Given the description of an element on the screen output the (x, y) to click on. 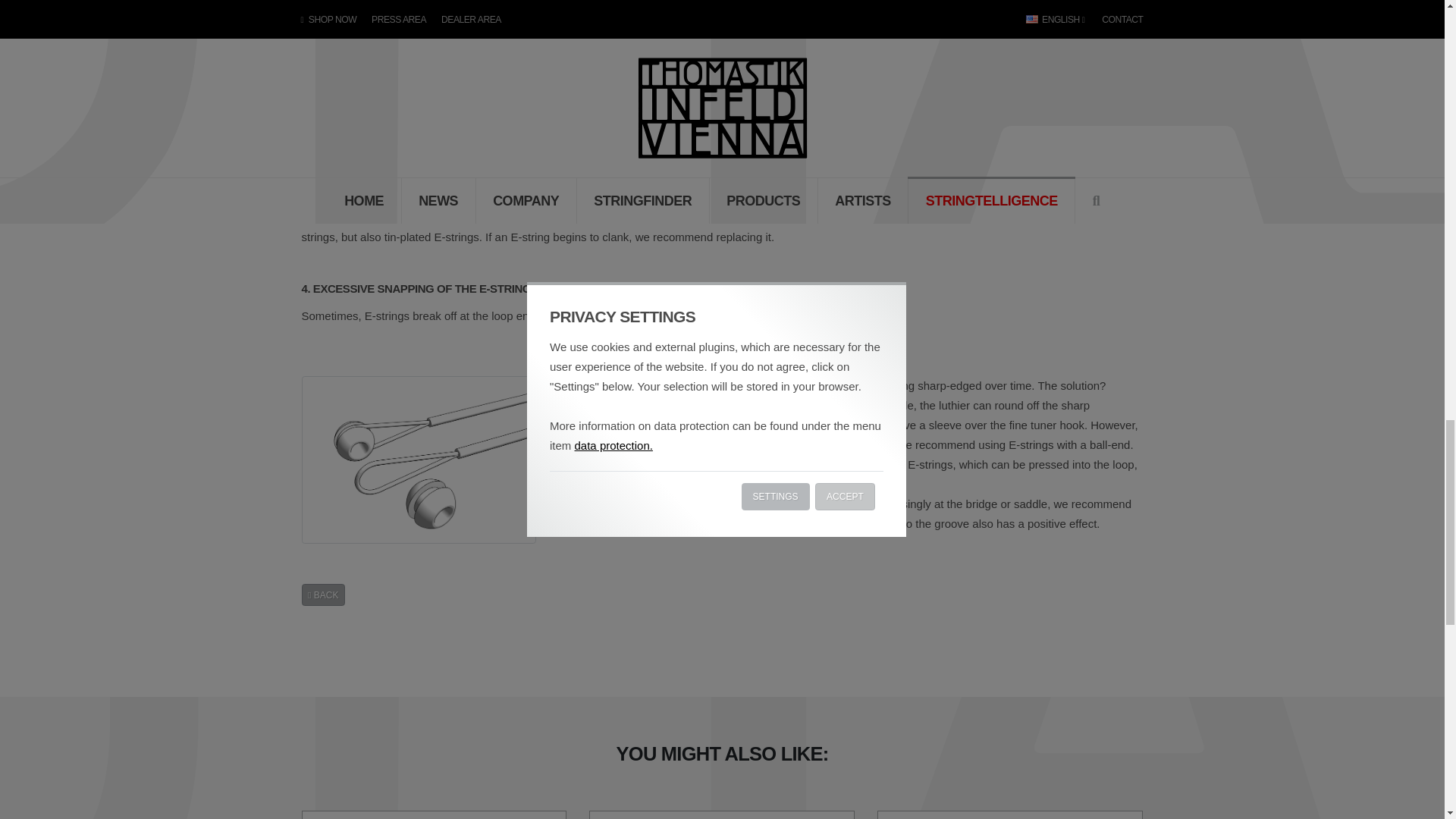
MORE INFO (721, 815)
BACK (323, 594)
MORE INFO (1009, 815)
MORE INFO (433, 815)
